Given the description of an element on the screen output the (x, y) to click on. 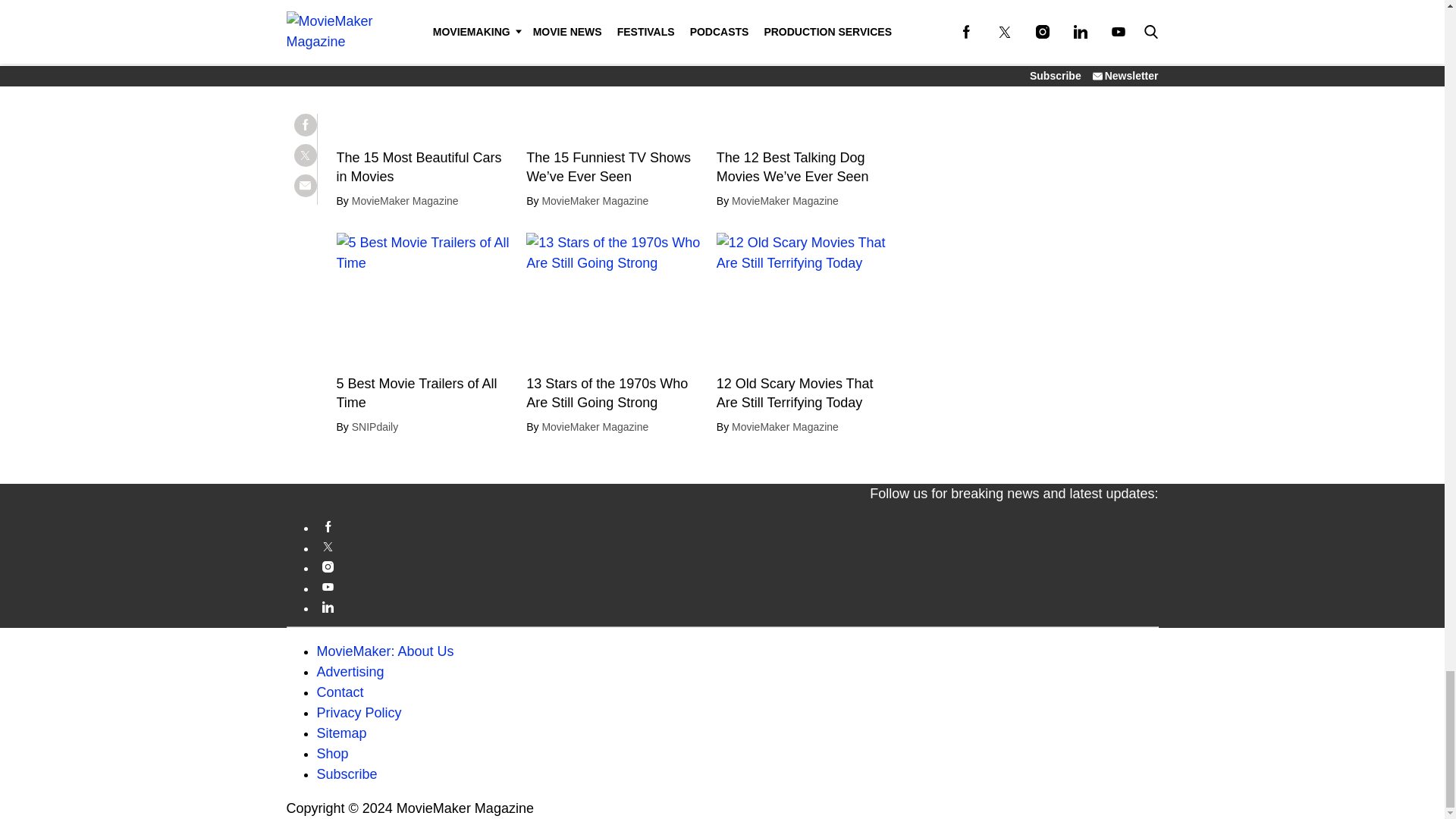
Follow us on Facebook (737, 526)
Advertising (350, 671)
Follow us on Instagram (737, 566)
MovieMaker Magazine Shop (333, 753)
Follow us on Twitter (737, 546)
MovieMaker Magazine Privacy Policy (359, 712)
Subscribe to our YouTube channel (737, 586)
Connect with us on LinkedIn (737, 606)
MovieMaker: About Us (385, 651)
Contact MovieMaker Magazine (340, 692)
